Given the description of an element on the screen output the (x, y) to click on. 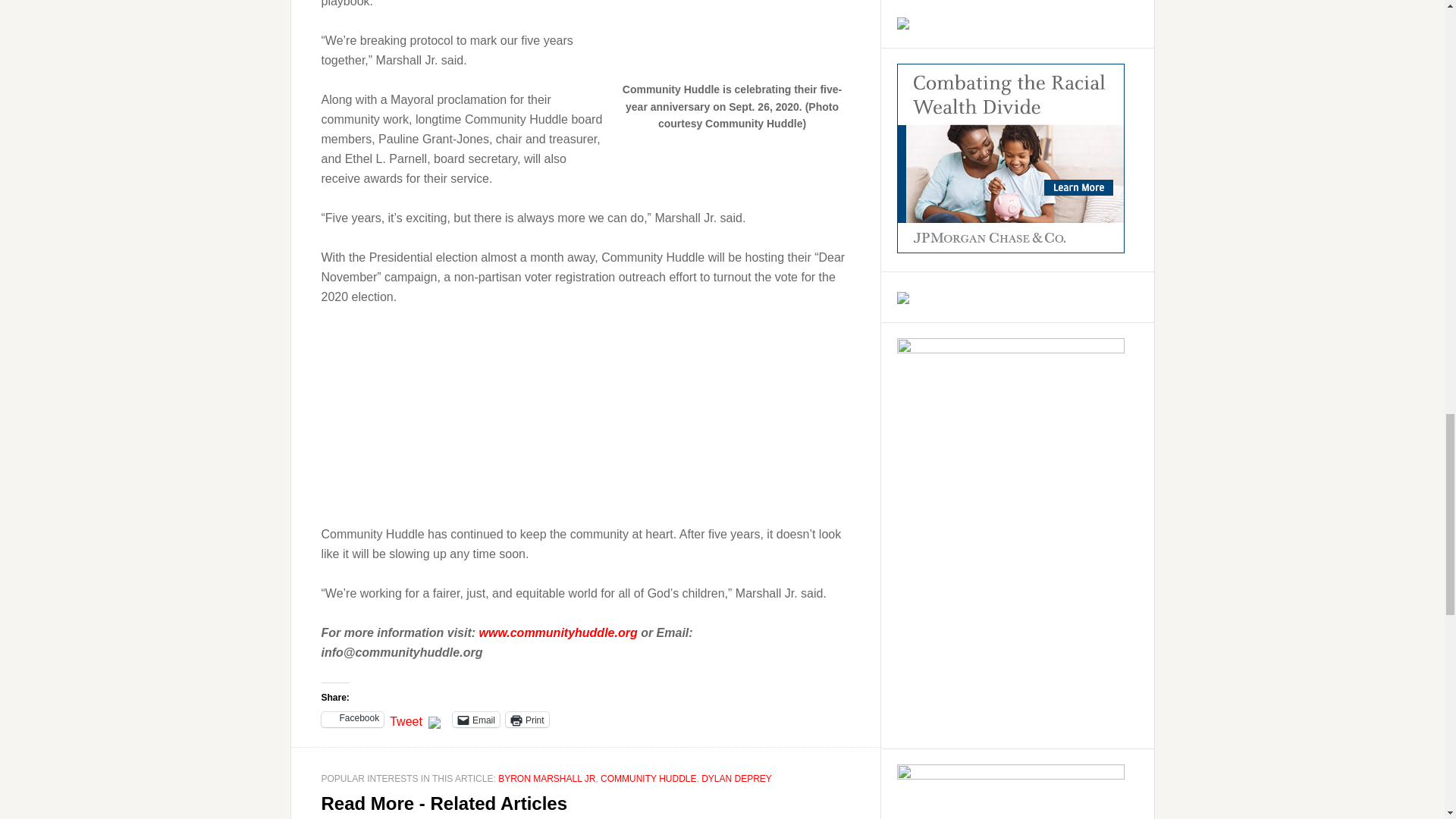
Click to share on Facebook (352, 719)
www.communityhuddle.org (558, 632)
COMMUNITY HUDDLE (647, 778)
Facebook (352, 719)
Click to email a link to a friend (475, 719)
DYLAN DEPREY (736, 778)
Print (526, 719)
Email (475, 719)
BYRON MARSHALL JR (546, 778)
Click to print (526, 719)
